Given the description of an element on the screen output the (x, y) to click on. 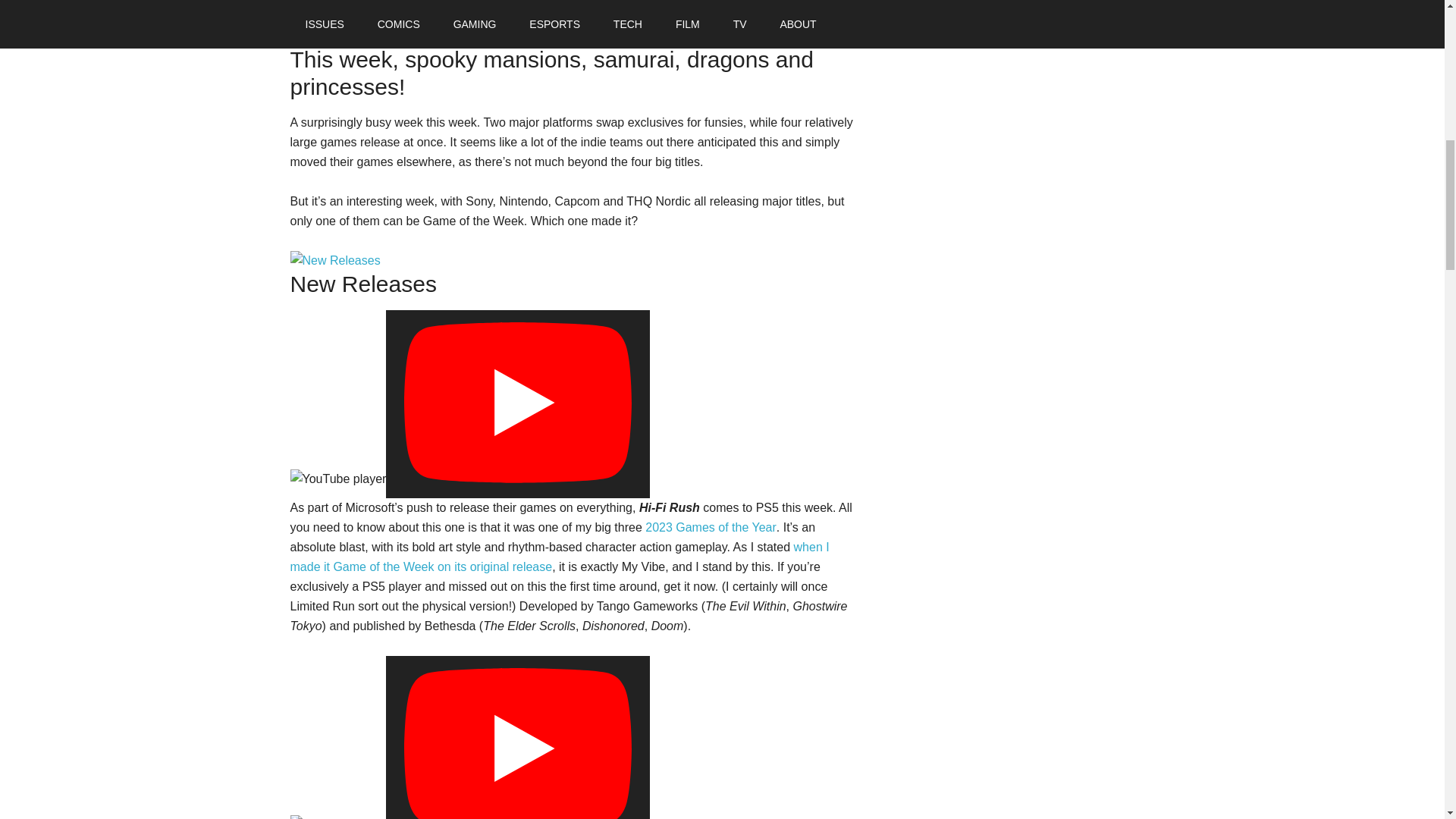
2023 Games of the Year (710, 526)
when I made it Game of the Week on its original release (558, 556)
